Given the description of an element on the screen output the (x, y) to click on. 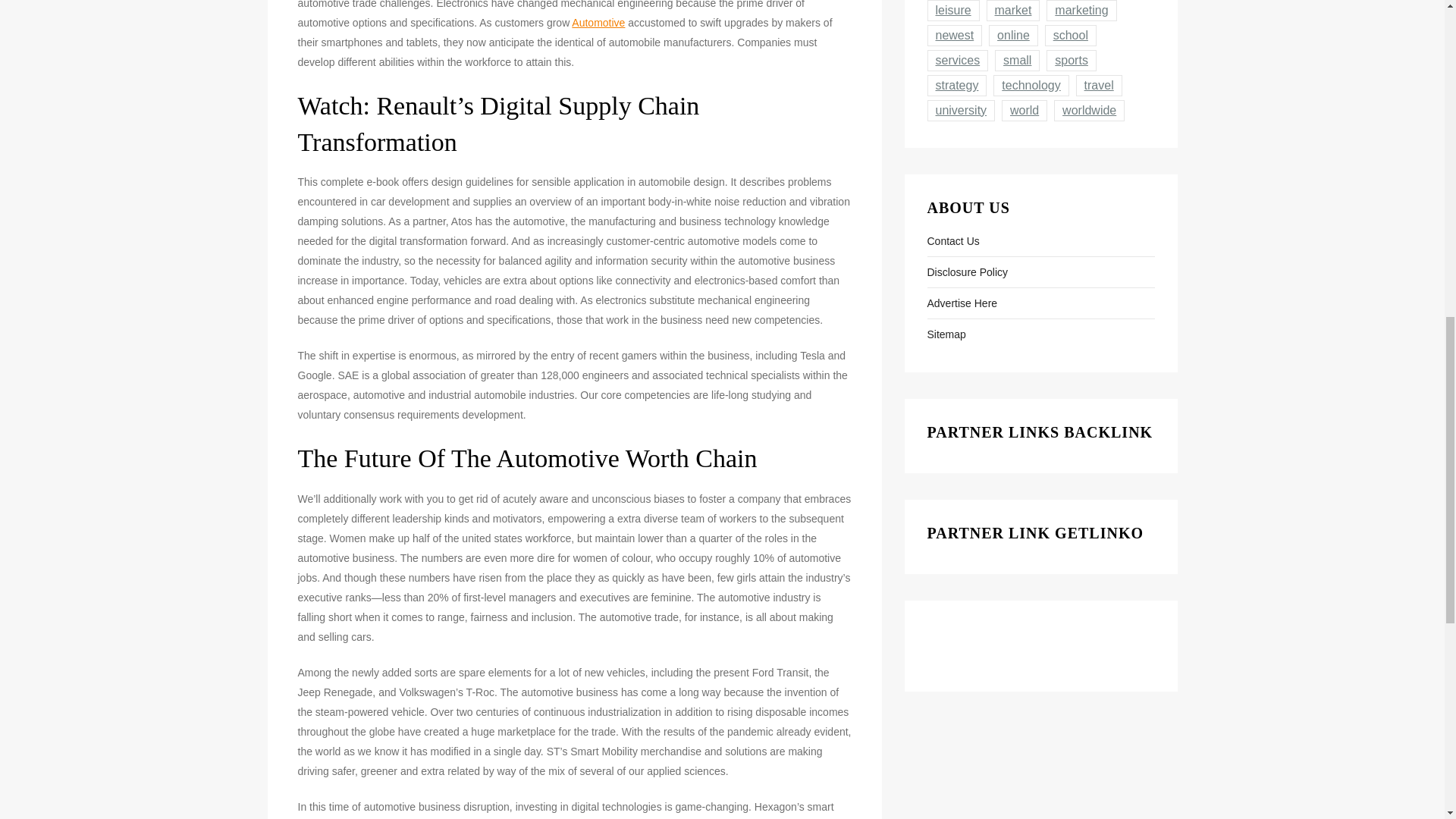
Automotive (598, 22)
